Given the description of an element on the screen output the (x, y) to click on. 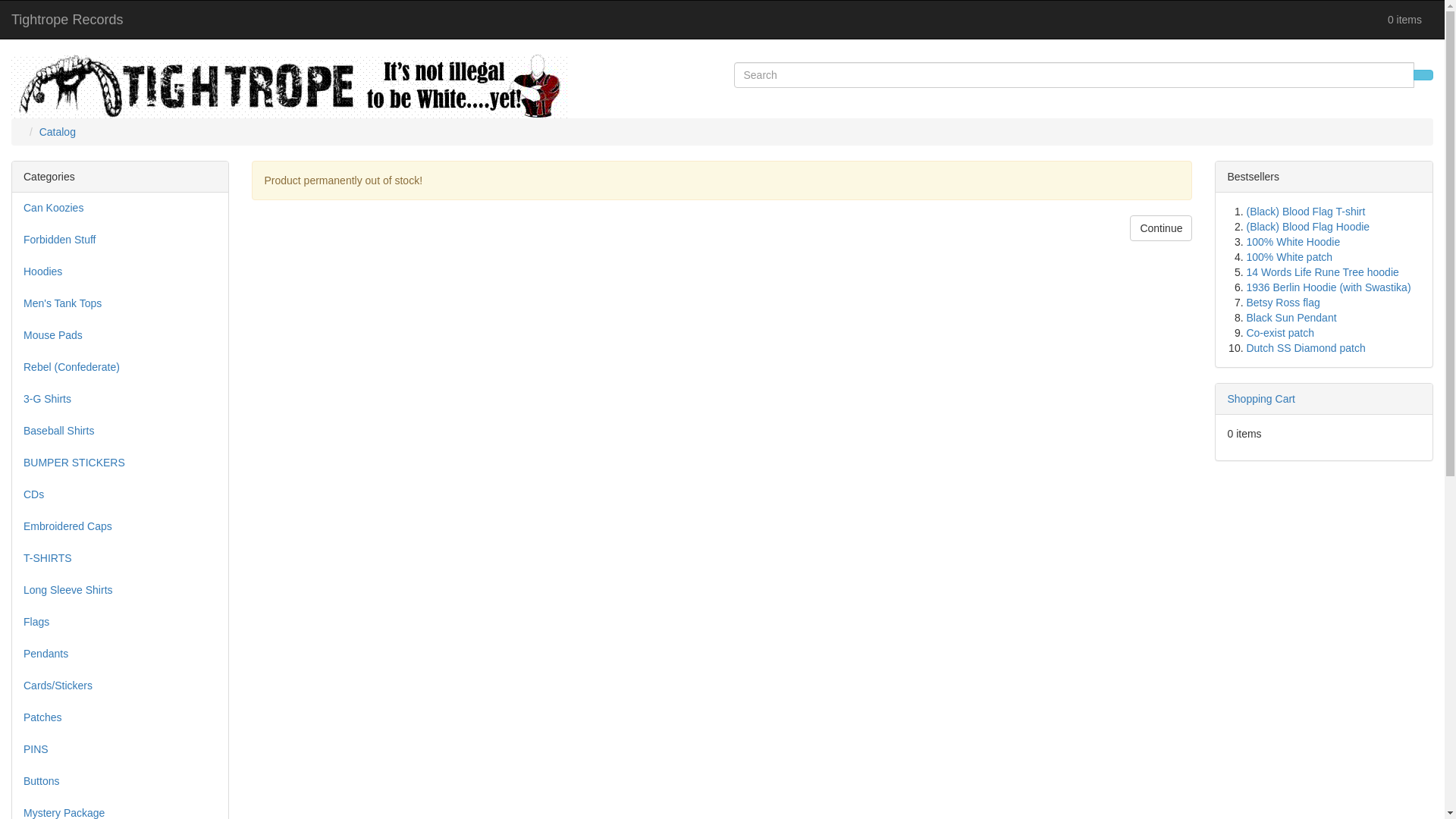
Dutch SS Diamond patch Element type: text (1305, 348)
(Black) Blood Flag T-shirt Element type: text (1305, 211)
Men's Tank Tops Element type: text (120, 303)
CDs Element type: text (120, 494)
Rebel (Confederate) Element type: text (120, 366)
3-G Shirts Element type: text (120, 398)
100% White patch Element type: text (1288, 257)
T-SHIRTS Element type: text (120, 557)
Cards/Stickers Element type: text (120, 685)
Patches Element type: text (120, 717)
Black Sun Pendant Element type: text (1290, 317)
Tightrope Records Element type: hover (289, 86)
Buttons Element type: text (120, 780)
Tightrope Records Element type: text (67, 19)
14 Words Life Rune Tree hoodie Element type: text (1321, 272)
Can Koozies Element type: text (120, 207)
Forbidden Stuff Element type: text (120, 239)
Embroidered Caps Element type: text (120, 526)
Baseball Shirts Element type: text (120, 430)
100% White Hoodie Element type: text (1292, 241)
Long Sleeve Shirts Element type: text (120, 589)
Betsy Ross flag Element type: text (1282, 302)
Catalog Element type: text (57, 131)
Mouse Pads Element type: text (120, 335)
Hoodies Element type: text (120, 271)
Shopping Cart Element type: text (1260, 398)
(Black) Blood Flag Hoodie Element type: text (1307, 226)
BUMPER STICKERS Element type: text (120, 462)
1936 Berlin Hoodie (with Swastika) Element type: text (1327, 287)
Flags Element type: text (120, 621)
PINS Element type: text (120, 749)
Continue Element type: text (1160, 228)
Pendants Element type: text (120, 653)
Co-exist patch Element type: text (1279, 332)
